Given the description of an element on the screen output the (x, y) to click on. 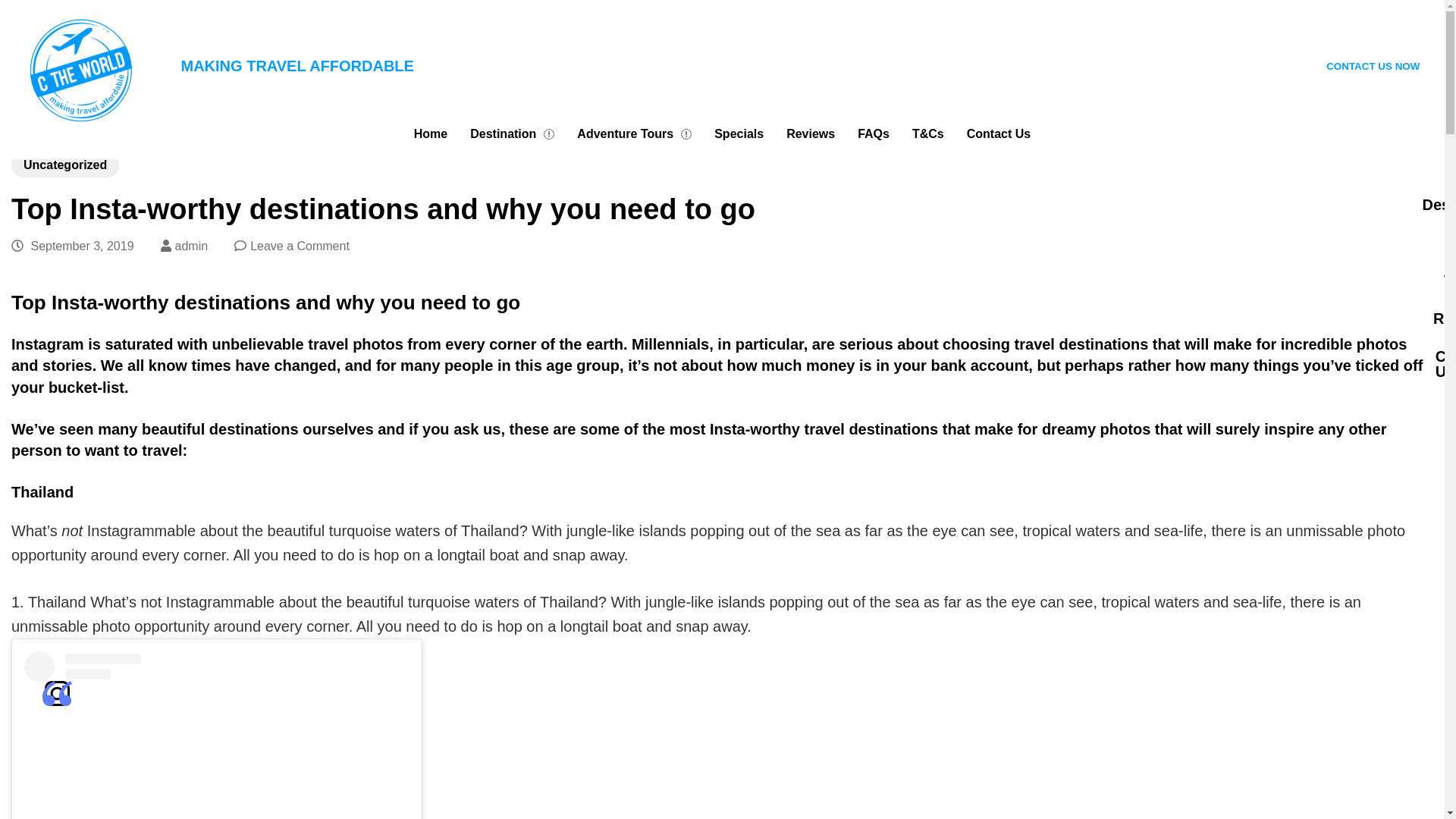
CONTACT US NOW (1372, 66)
FAQs (873, 134)
Home (430, 134)
Adventure Tours (634, 134)
Destination (512, 134)
View this post on Instagram (216, 735)
Leave a Comment (299, 245)
Contact Us (998, 134)
admin (191, 245)
Specials (738, 134)
